Given the description of an element on the screen output the (x, y) to click on. 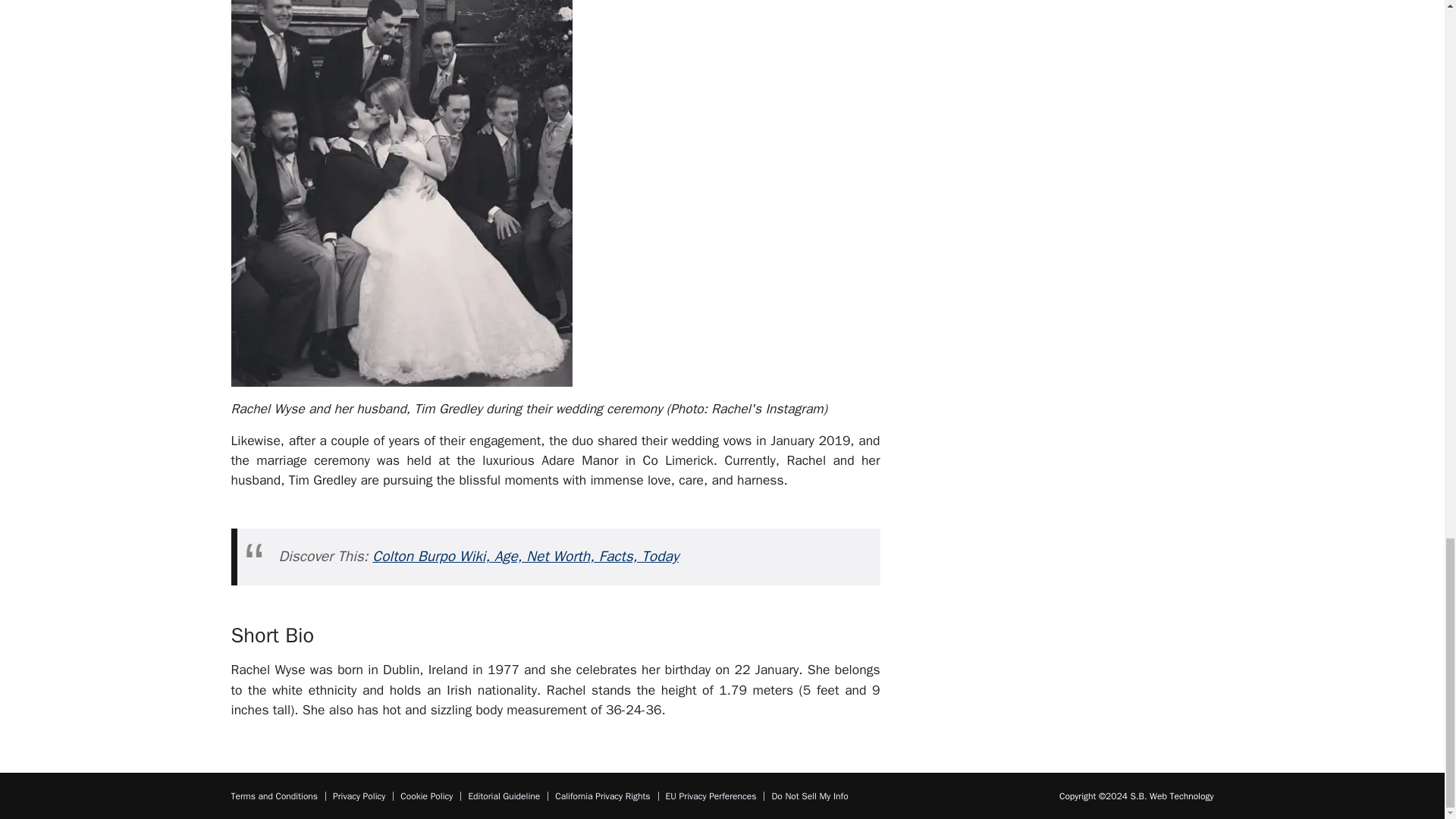
Privacy Policy (359, 796)
Cookie Policy (426, 796)
Colton Burpo Wiki, Age, Net Worth, Facts, Today (525, 556)
Terms and Conditions (273, 796)
